Given the description of an element on the screen output the (x, y) to click on. 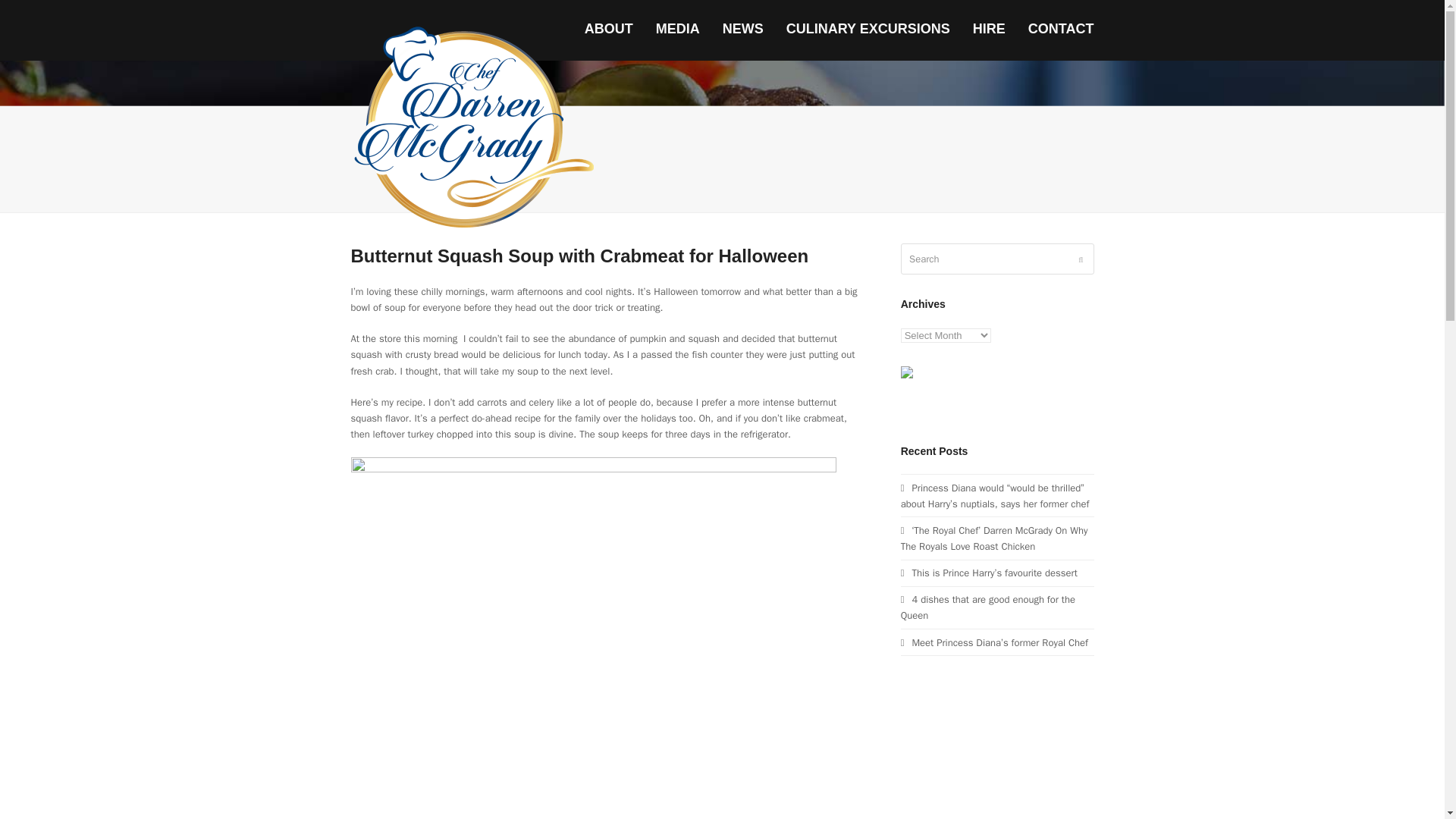
CULINARY EXCURSIONS (867, 30)
MEDIA (678, 30)
NEWS (742, 30)
ABOUT (609, 30)
4 dishes that are good enough for the Queen (988, 606)
HIRE (988, 30)
CONTACT (1060, 30)
